Given the description of an element on the screen output the (x, y) to click on. 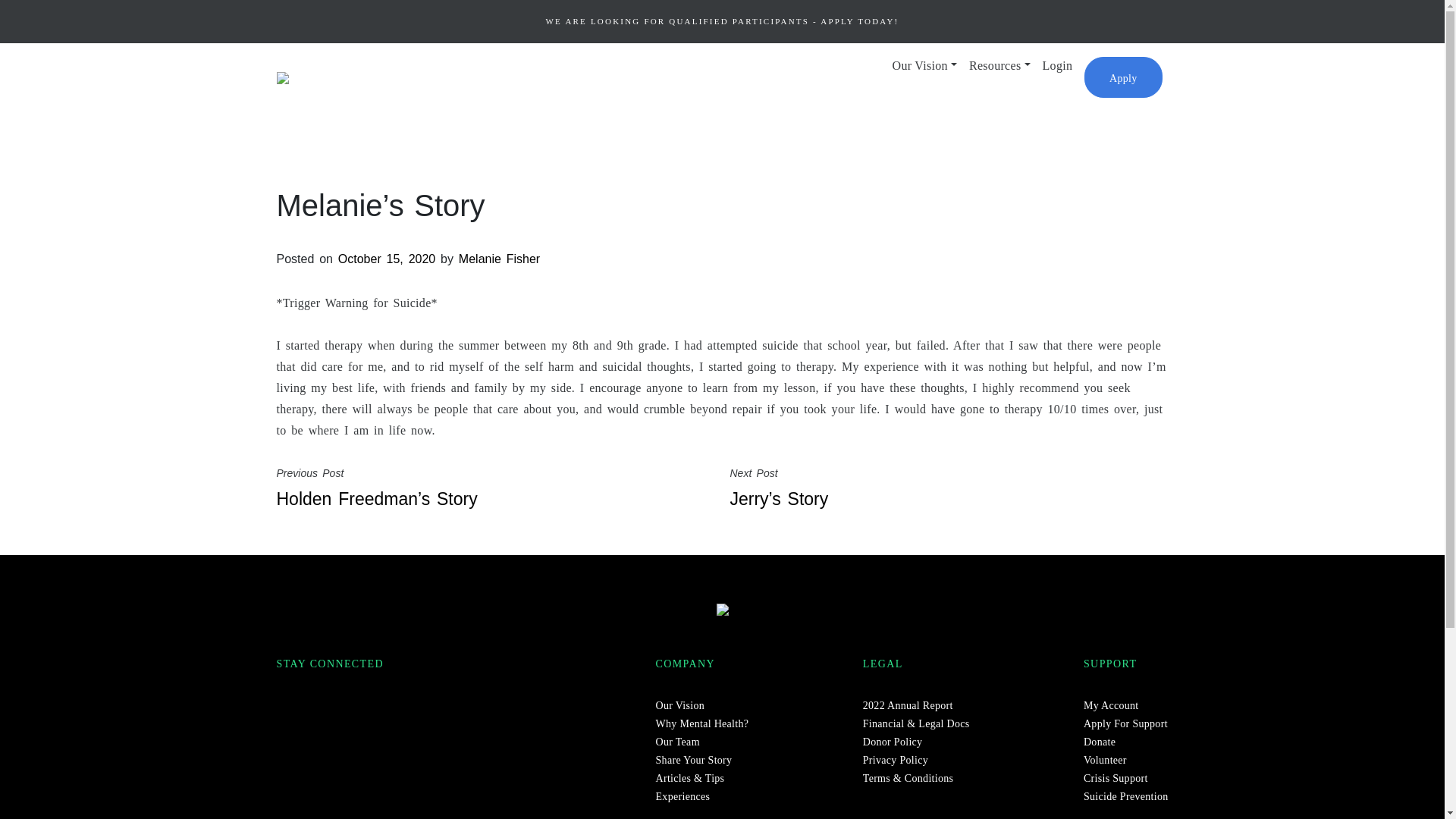
Crisis Support (1115, 777)
Share Your Story (694, 758)
Melanie Fisher (499, 257)
Resources (999, 65)
Donate (1099, 740)
Donor Policy (893, 740)
Apply (1122, 76)
Suicide Prevention (1126, 795)
Privacy Policy (895, 758)
My Account (1110, 704)
